Given the description of an element on the screen output the (x, y) to click on. 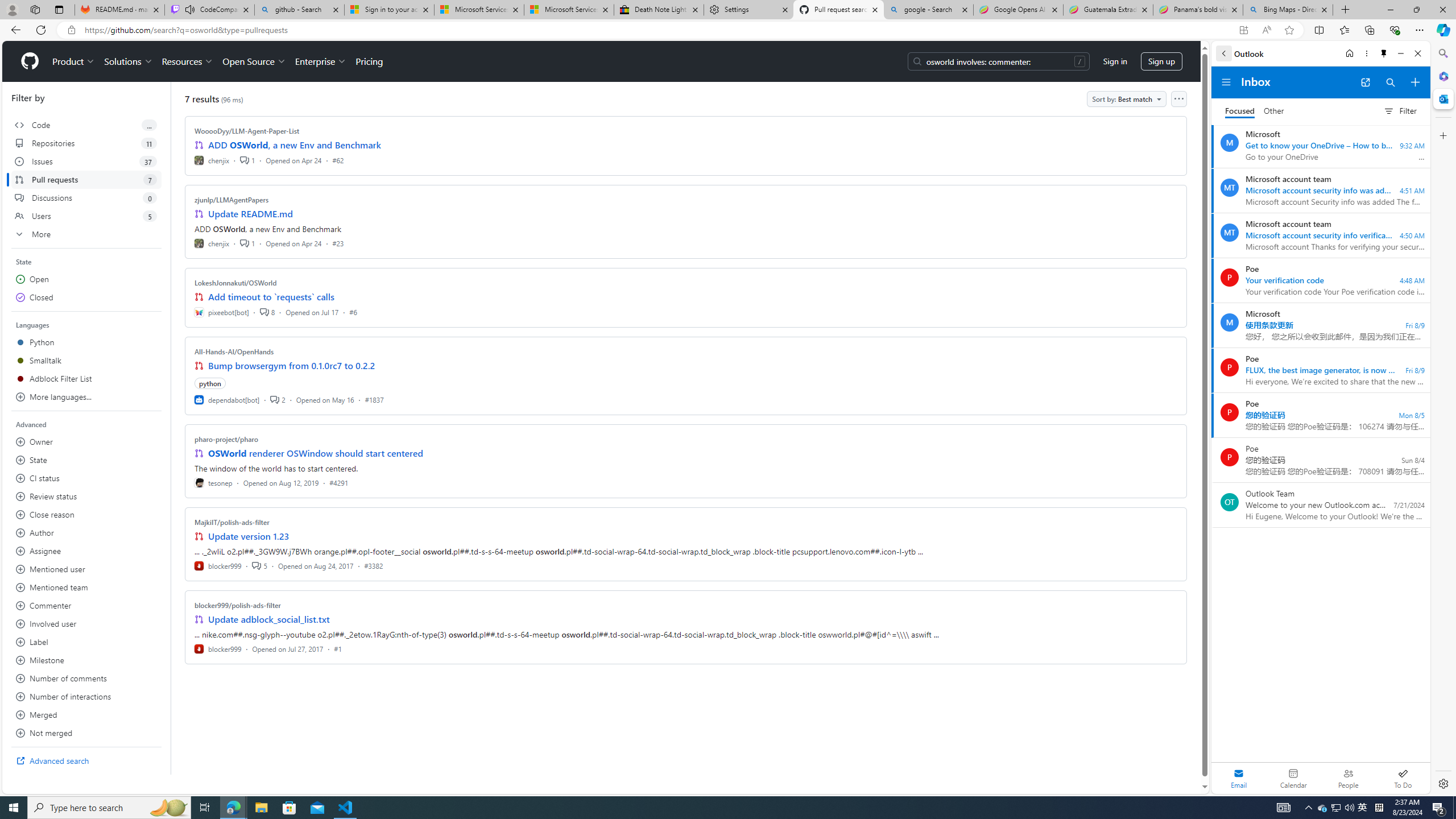
People (1347, 777)
Enterprise (319, 60)
#4291 (338, 482)
Update README.md (250, 213)
